Given the description of an element on the screen output the (x, y) to click on. 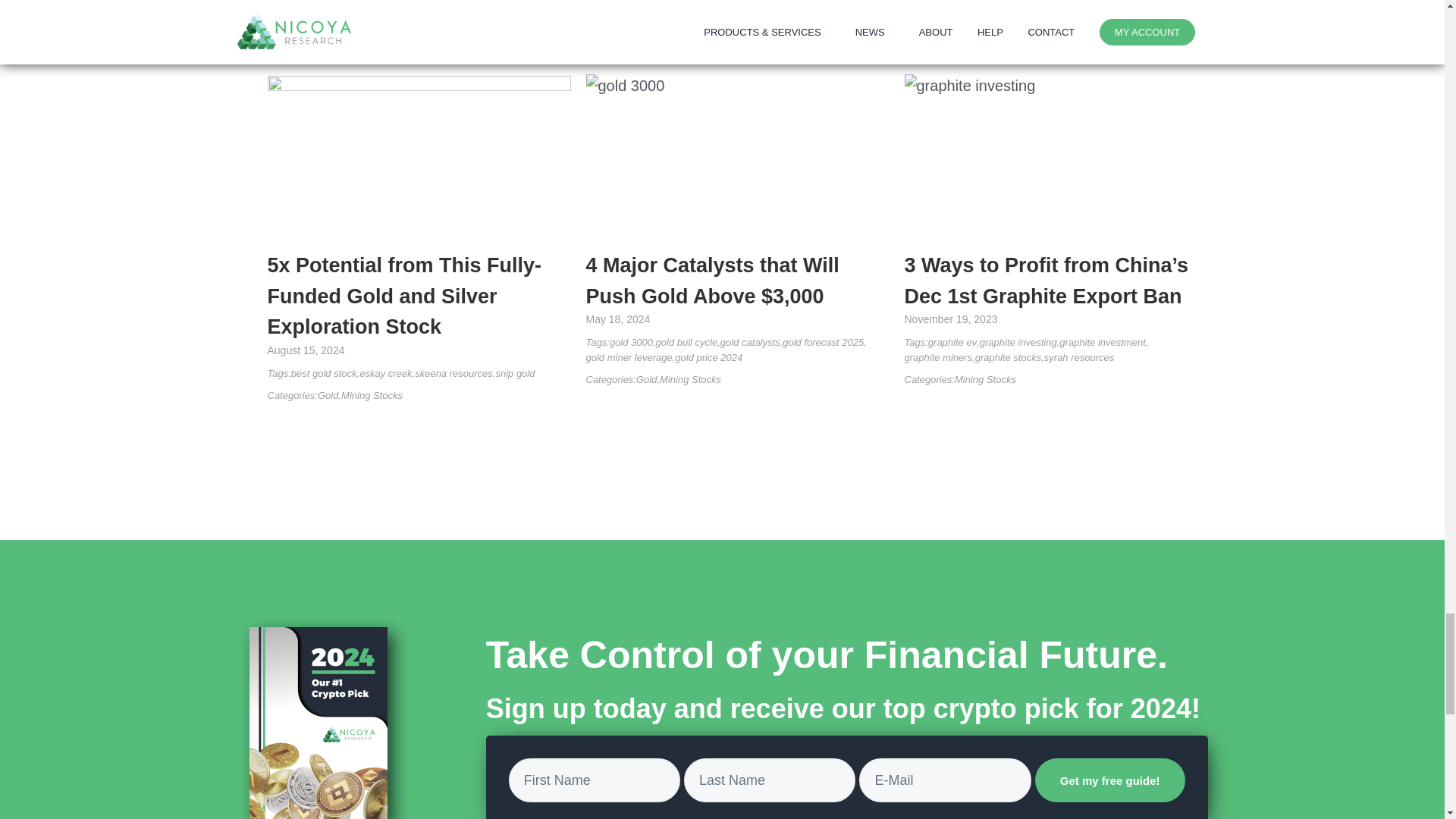
skeena resources (453, 373)
eskay creek (385, 373)
Mining Stocks (371, 395)
best gold stock (323, 373)
Get my free guide! (1110, 780)
snip gold (514, 373)
Gold (327, 395)
